Given the description of an element on the screen output the (x, y) to click on. 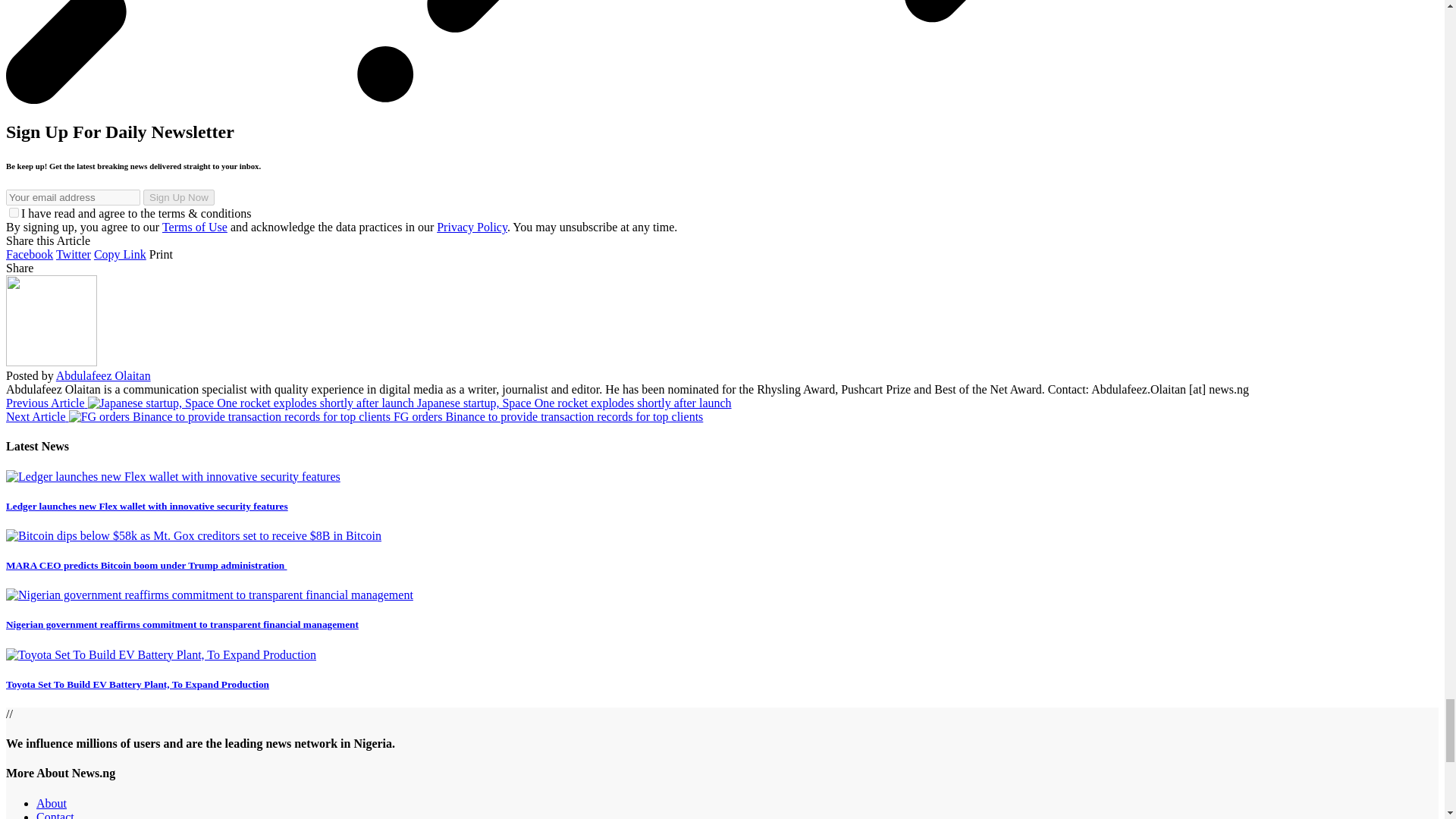
Sign Up Now (178, 197)
1 (13, 212)
Toyota Set To Build EV Battery Plant, To Expand Production (160, 654)
